Given the description of an element on the screen output the (x, y) to click on. 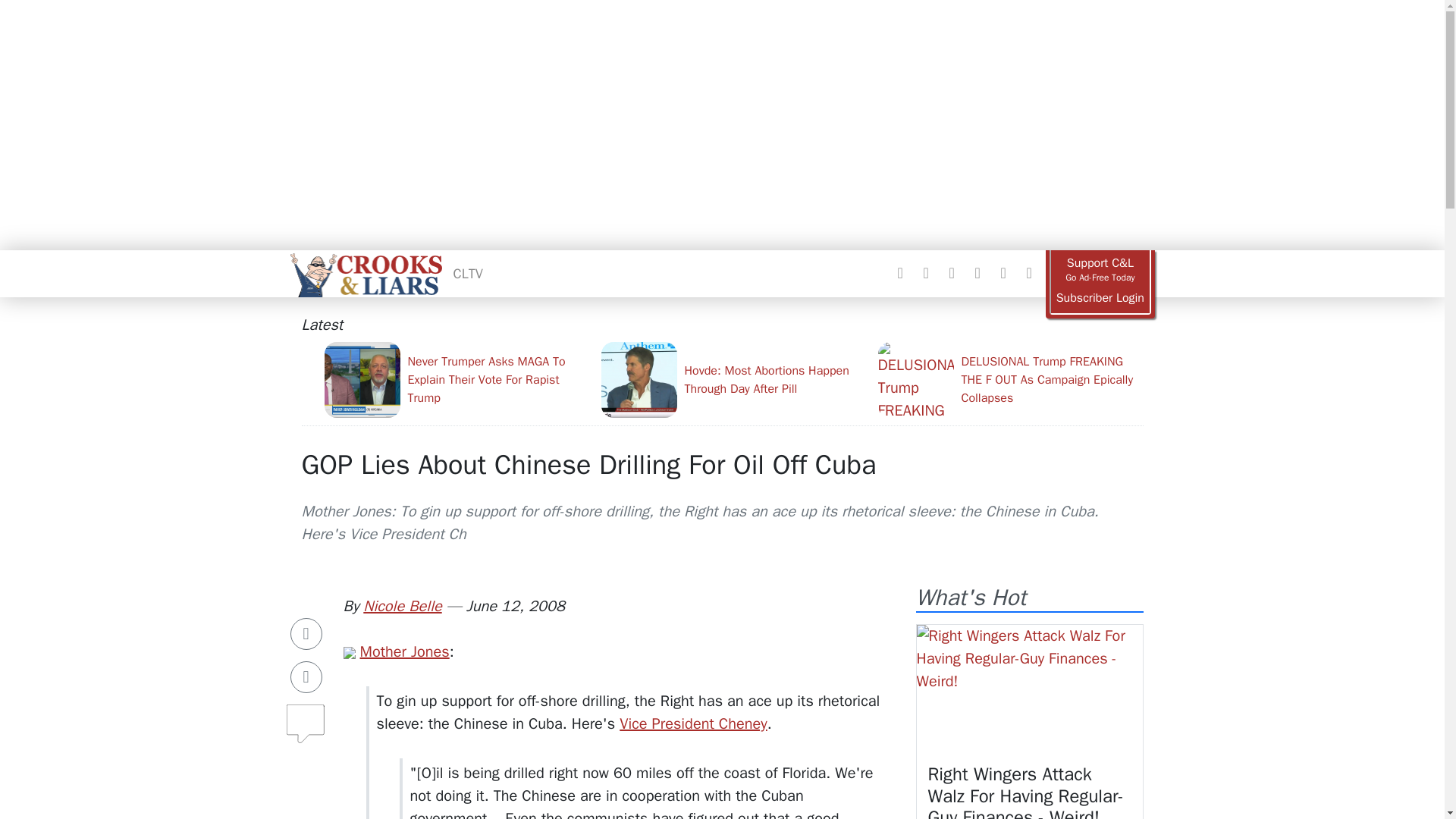
Go ad free today! (1099, 270)
Comments (306, 717)
Login to your ad free account (1099, 298)
Hovde: Most Abortions Happen Through Day After Pill (732, 379)
Share on Twitter (306, 676)
Hovde: Most Abortions Happen Through Day After Pill (732, 379)
GOP Lies About Chinese Drilling For Oil Off Cuba (588, 464)
Mother Jones (403, 651)
